Given the description of an element on the screen output the (x, y) to click on. 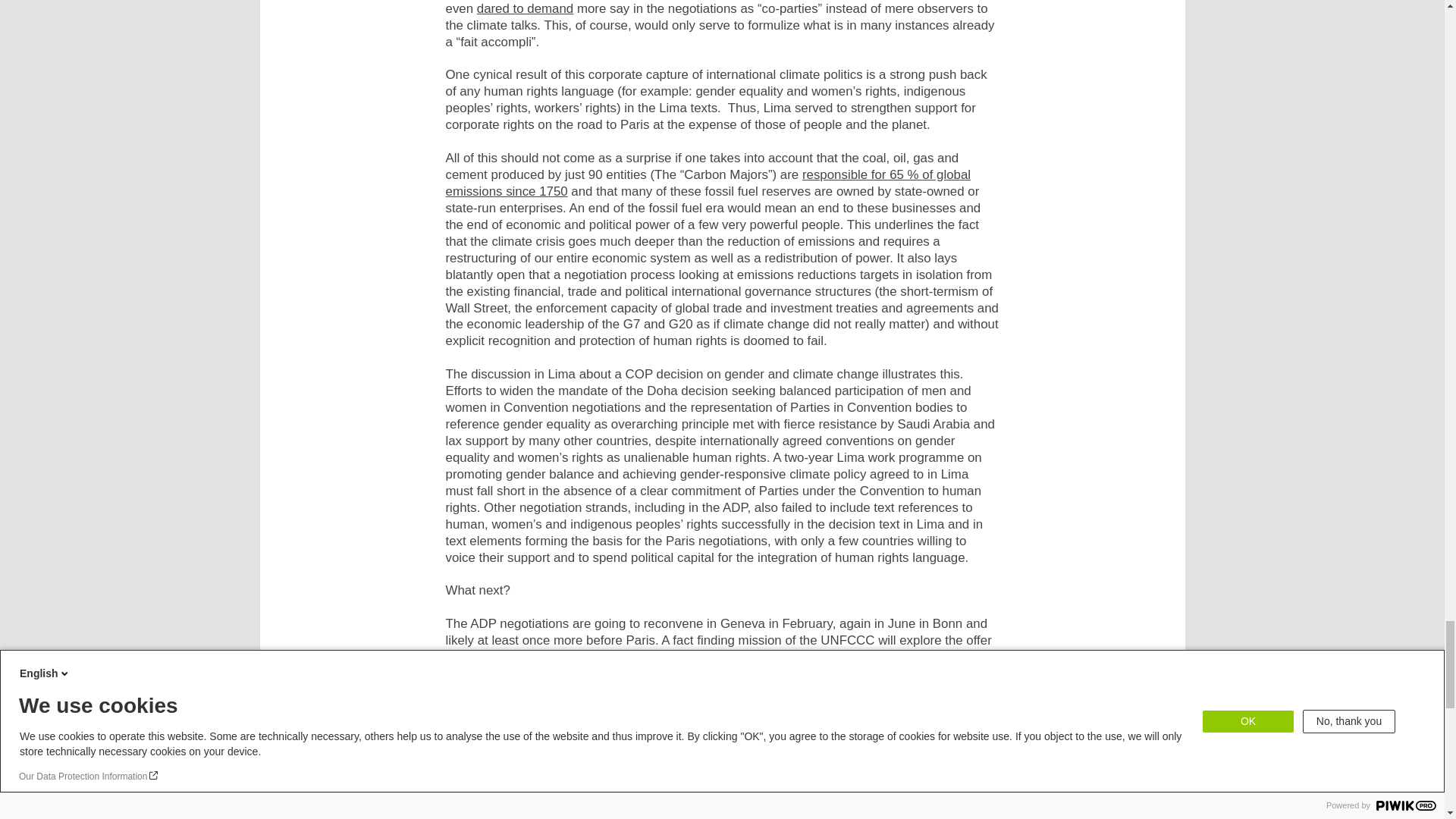
dared to demand (525, 8)
